Given the description of an element on the screen output the (x, y) to click on. 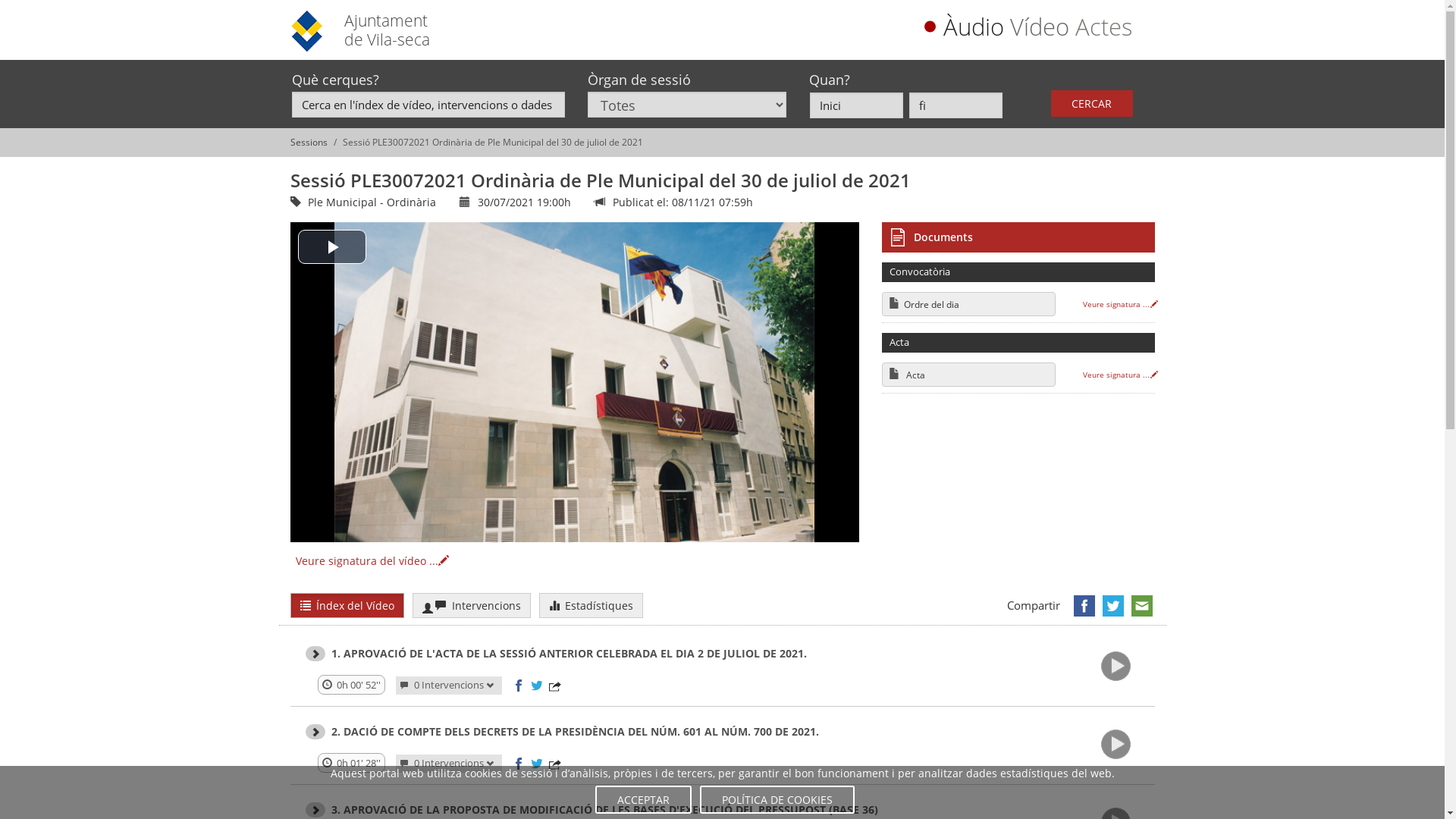
   Acta Element type: text (968, 374)
Copia hipervincle Element type: hover (555, 764)
Facebook Element type: hover (518, 763)
0 Intervencions Element type: text (448, 685)
Veure signatura ... Element type: text (1119, 374)
eMail Element type: hover (1140, 605)
Sessions Element type: text (307, 141)
Facebook Element type: hover (518, 685)
CERCAR Element type: text (1092, 103)
Play Video Element type: text (331, 246)
Copia hipervincle Element type: hover (555, 686)
0 Intervencions Element type: text (448, 763)
Twitter Element type: hover (536, 763)
   Intervencions Element type: text (471, 605)
Veure signatura ... Element type: text (1119, 304)
Facebook Element type: hover (1083, 605)
Twitter Element type: hover (1112, 605)
  Ordre del dia Element type: text (968, 303)
Twitter Element type: hover (536, 685)
